Given the description of an element on the screen output the (x, y) to click on. 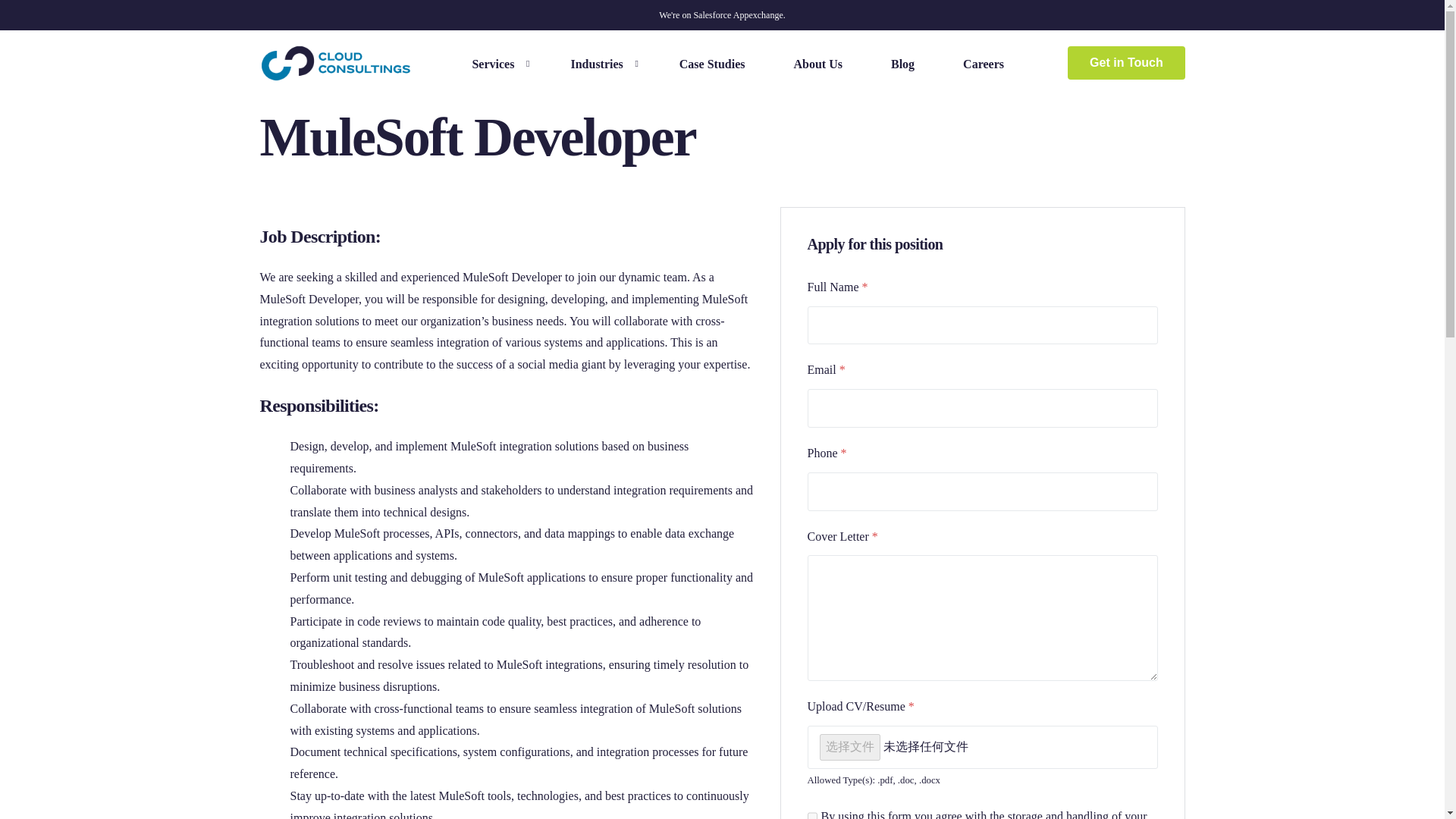
Careers (983, 63)
We're on Salesforce Appexchange (721, 14)
Get in Touch (1126, 62)
Blog (902, 63)
Services (496, 63)
Industries (599, 63)
About Us (817, 63)
Case Studies (712, 63)
